Given the description of an element on the screen output the (x, y) to click on. 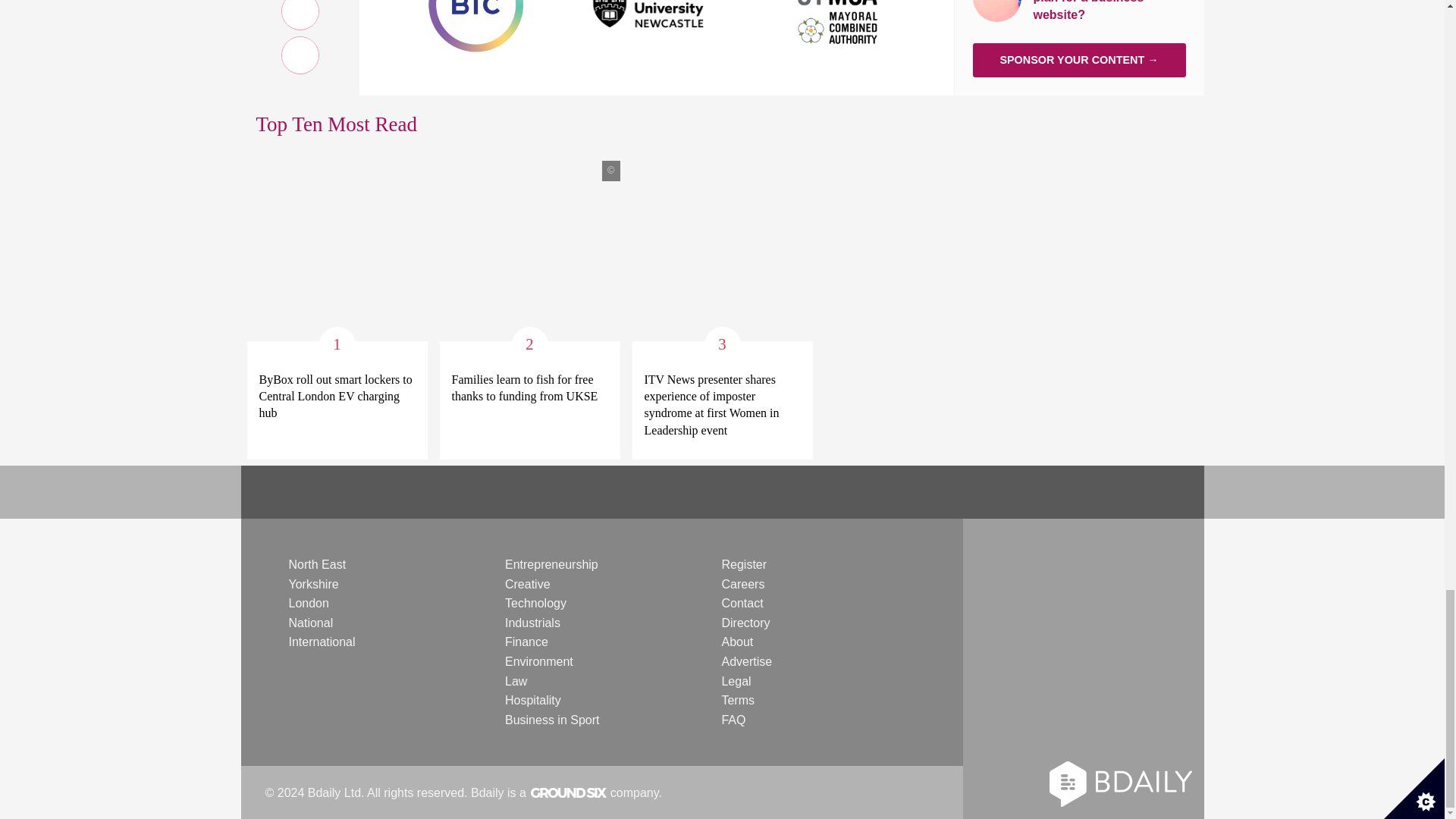
Law (516, 680)
Northumbria University Newcastle (656, 5)
London (308, 603)
Creative (527, 584)
North East BIC (474, 5)
Families learn to fish for free thanks to funding from UKSE (529, 388)
Entrepreneurship (551, 563)
Environment (539, 661)
Industrials (532, 622)
National (310, 622)
North East (317, 563)
International (321, 641)
South Yorkshire Mayoral Combined Authority (838, 5)
